Given the description of an element on the screen output the (x, y) to click on. 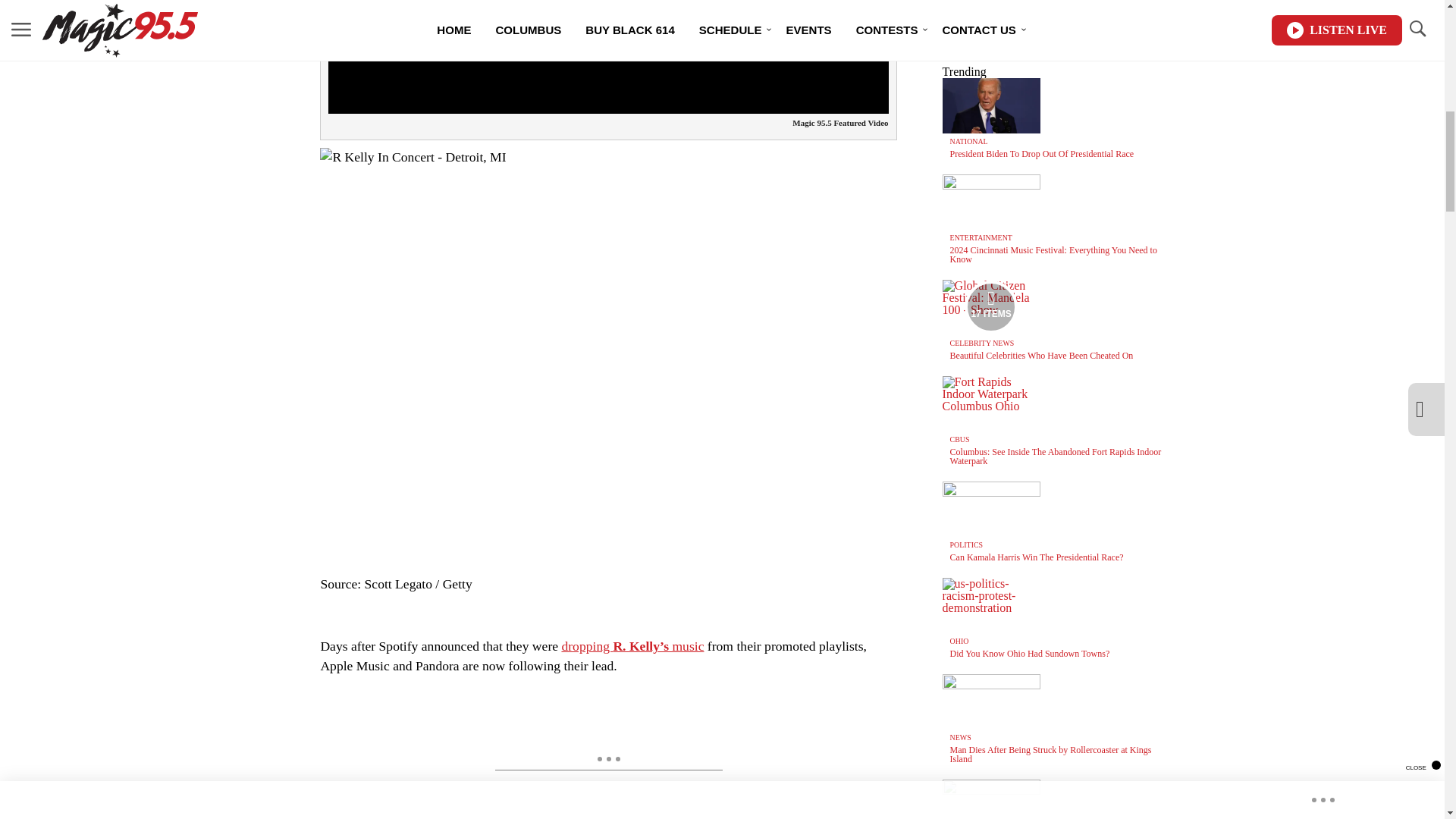
Media Playlist (990, 306)
